Given the description of an element on the screen output the (x, y) to click on. 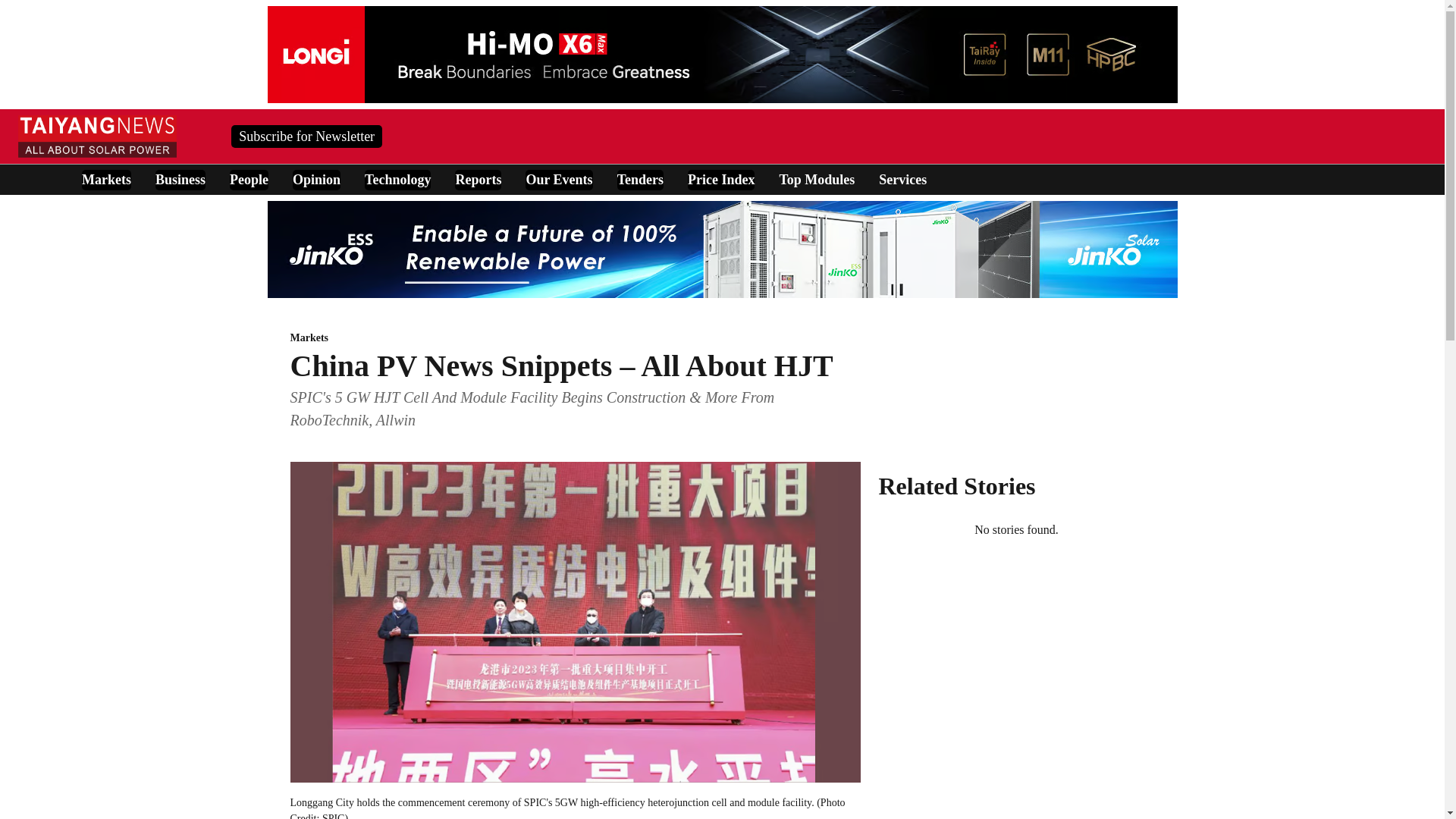
Opinion (316, 179)
Business (180, 179)
Price Index (720, 179)
Markets (106, 179)
Tenders (640, 179)
Technology (397, 179)
People (248, 179)
Markets (574, 338)
Our Events (558, 179)
Reports (477, 179)
Subscribe for Newsletter (306, 135)
